Given the description of an element on the screen output the (x, y) to click on. 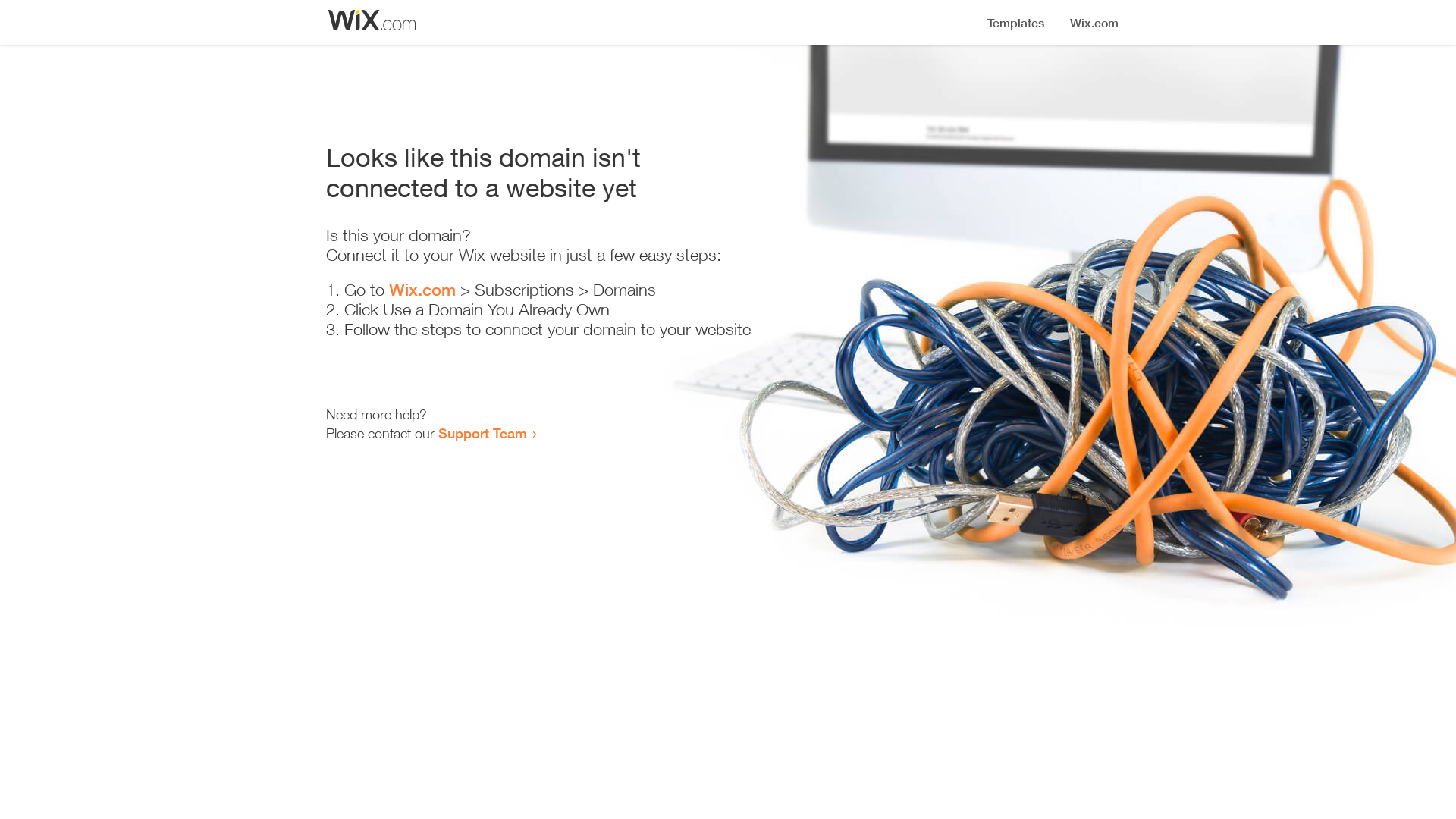
Wix.com Element type: text (422, 289)
Support Team Element type: text (482, 432)
